Given the description of an element on the screen output the (x, y) to click on. 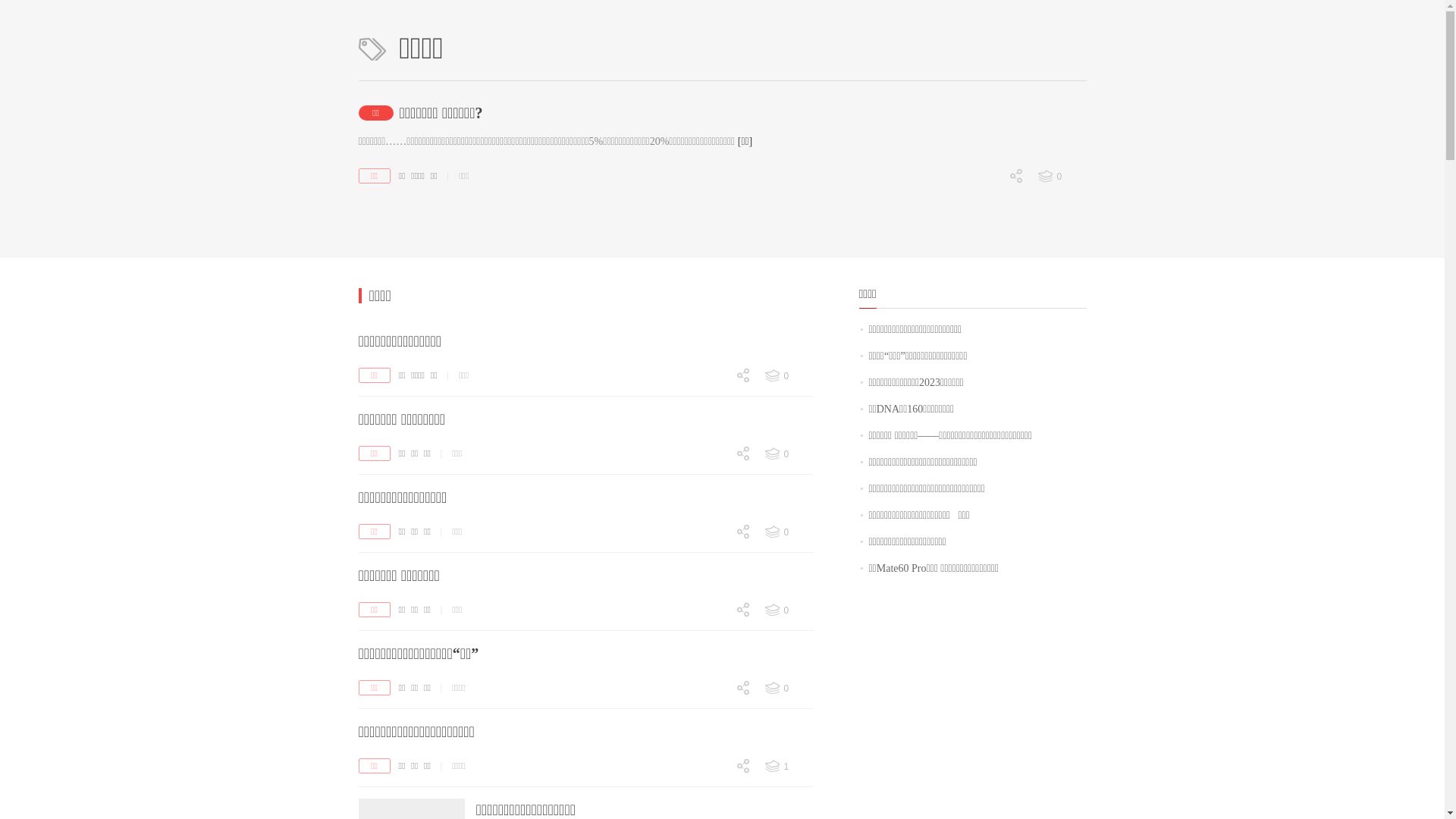
0 Element type: text (712, 559)
1 Element type: text (787, 766)
0 Element type: text (985, 281)
0 Element type: text (712, 715)
0 Element type: text (787, 688)
0 Element type: text (712, 611)
0 Element type: text (787, 453)
0 Element type: text (712, 455)
0 Element type: text (985, 202)
0 Element type: text (712, 481)
0 Element type: text (712, 689)
0 Element type: text (787, 375)
0 Element type: text (787, 610)
0 Element type: text (712, 533)
0 Element type: text (712, 637)
0 Element type: text (712, 714)
0 Element type: text (712, 636)
0 Element type: text (1060, 176)
0 Element type: text (985, 255)
0 Element type: text (712, 558)
0 Element type: text (712, 793)
0 Element type: text (712, 792)
0 Element type: text (787, 532)
0 Element type: text (712, 767)
0 Element type: text (712, 402)
0 Element type: text (712, 480)
